Given the description of an element on the screen output the (x, y) to click on. 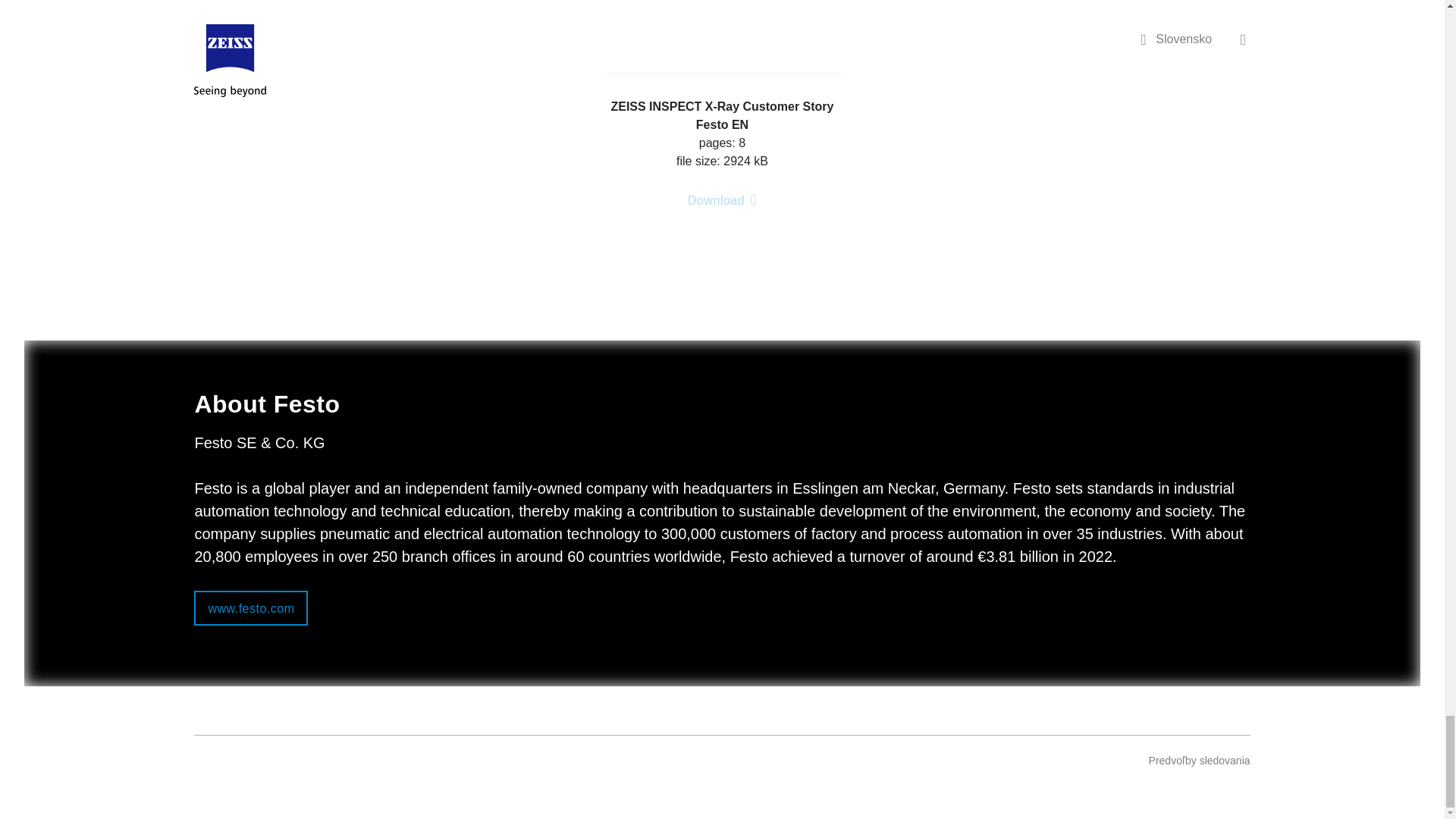
Download (722, 205)
www.festo.com (250, 607)
Download (722, 200)
